Given the description of an element on the screen output the (x, y) to click on. 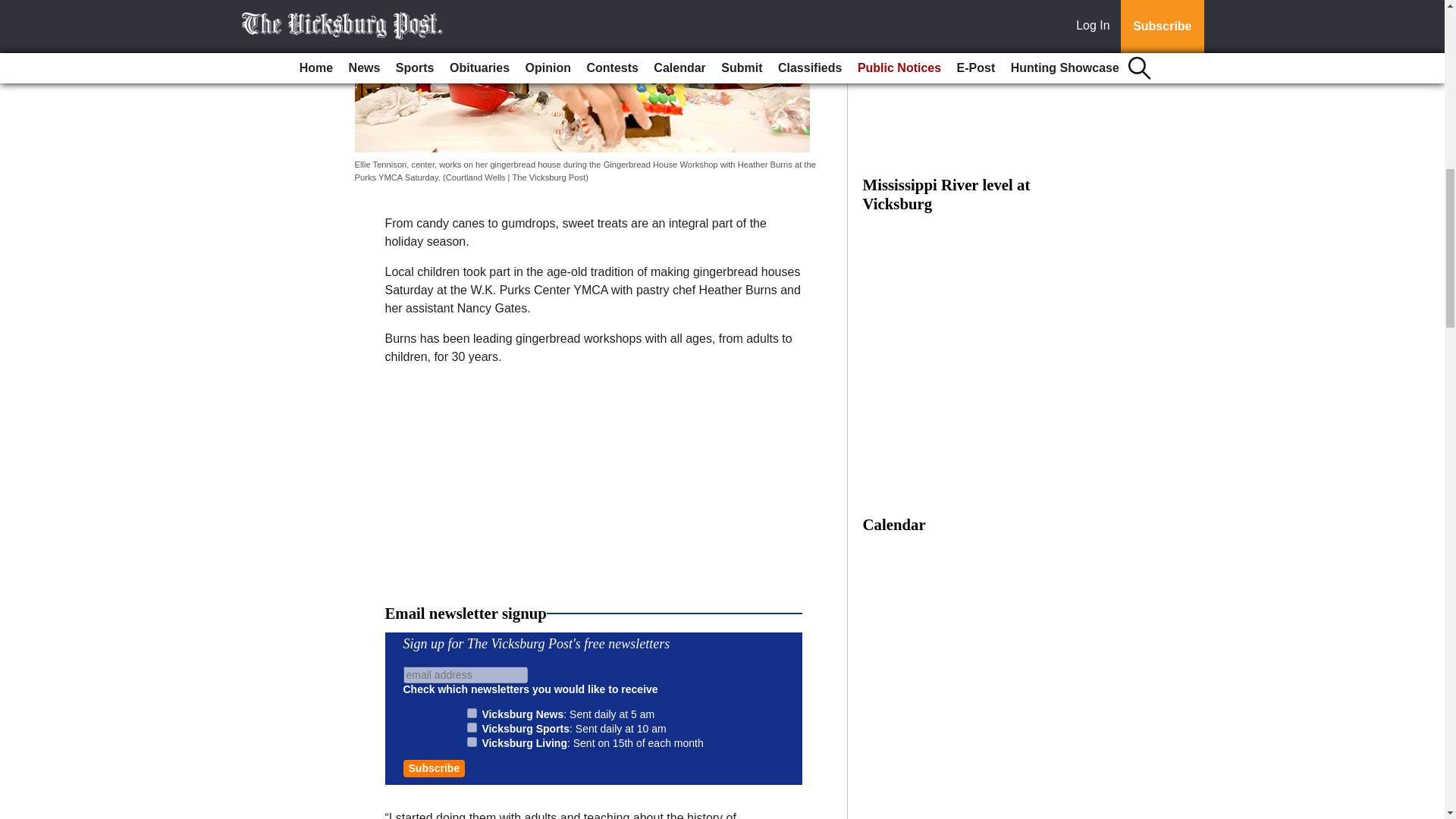
1 (472, 713)
Subscribe (434, 768)
Subscribe (434, 768)
2 (472, 727)
